Given the description of an element on the screen output the (x, y) to click on. 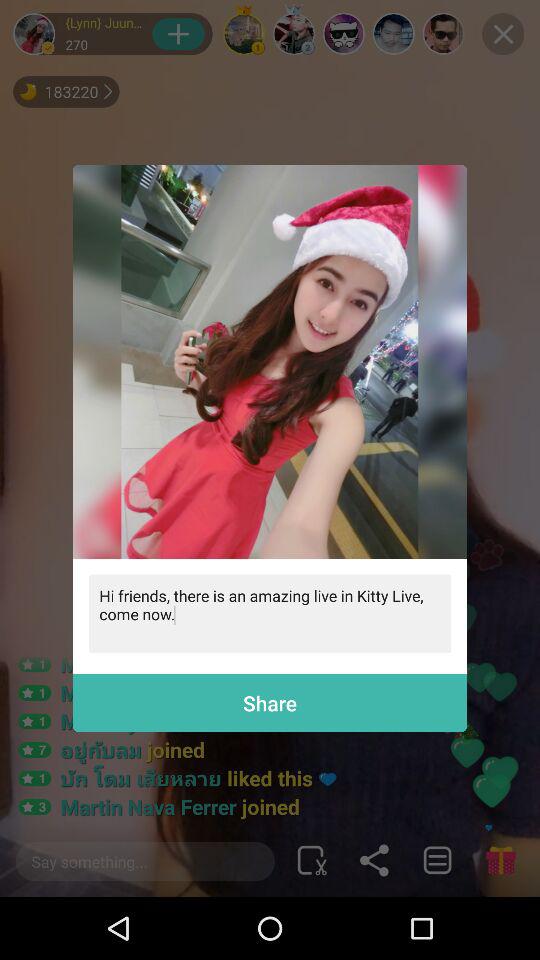
turn off the item below hi friends there icon (269, 702)
